Given the description of an element on the screen output the (x, y) to click on. 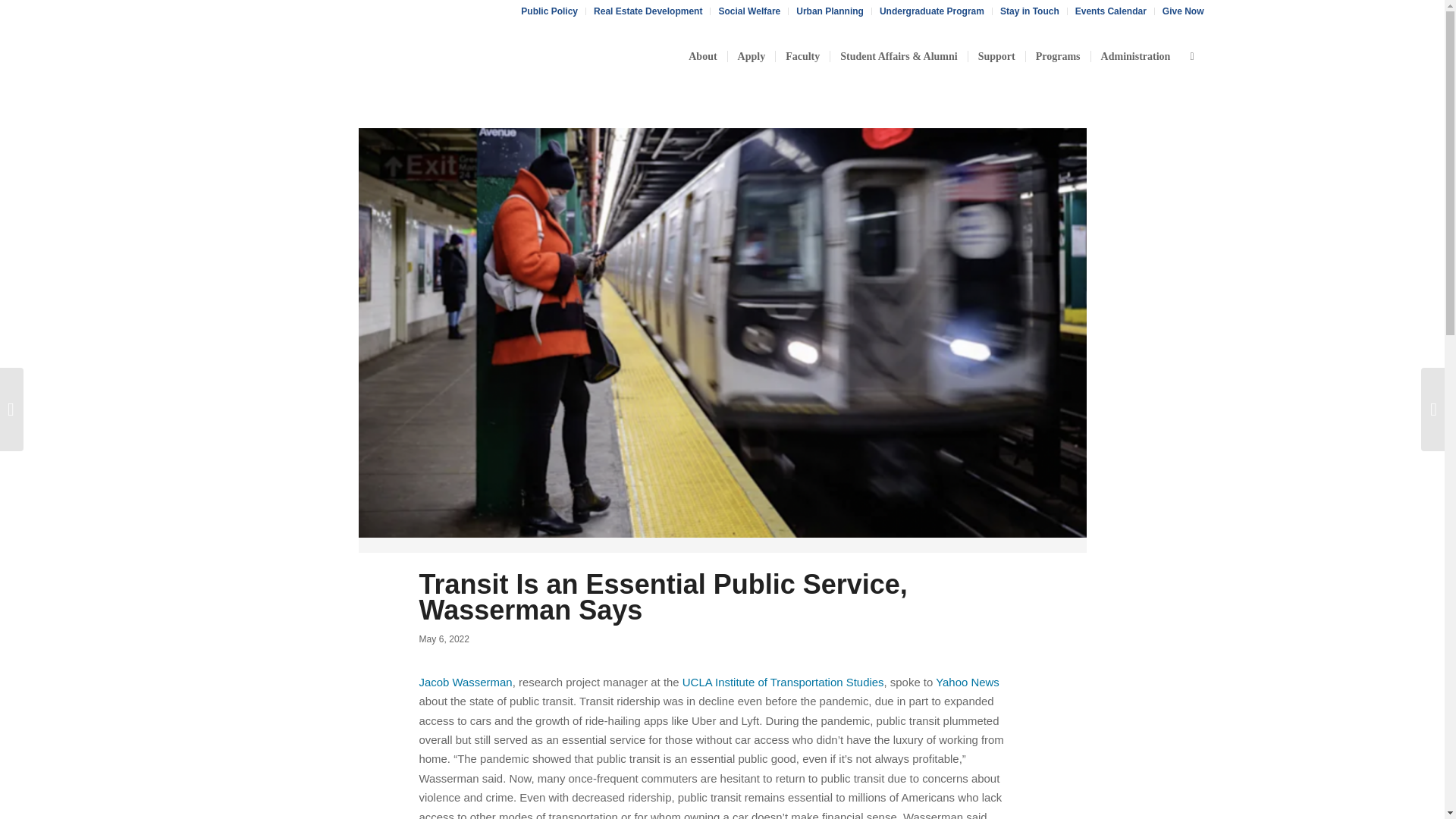
Social Welfare (748, 11)
Urban Planning (829, 11)
Real Estate Development (647, 11)
Give Now (1182, 11)
Events Calendar (1111, 11)
Public Policy (549, 11)
Stay in Touch (1029, 11)
Undergraduate Program (931, 11)
